Given the description of an element on the screen output the (x, y) to click on. 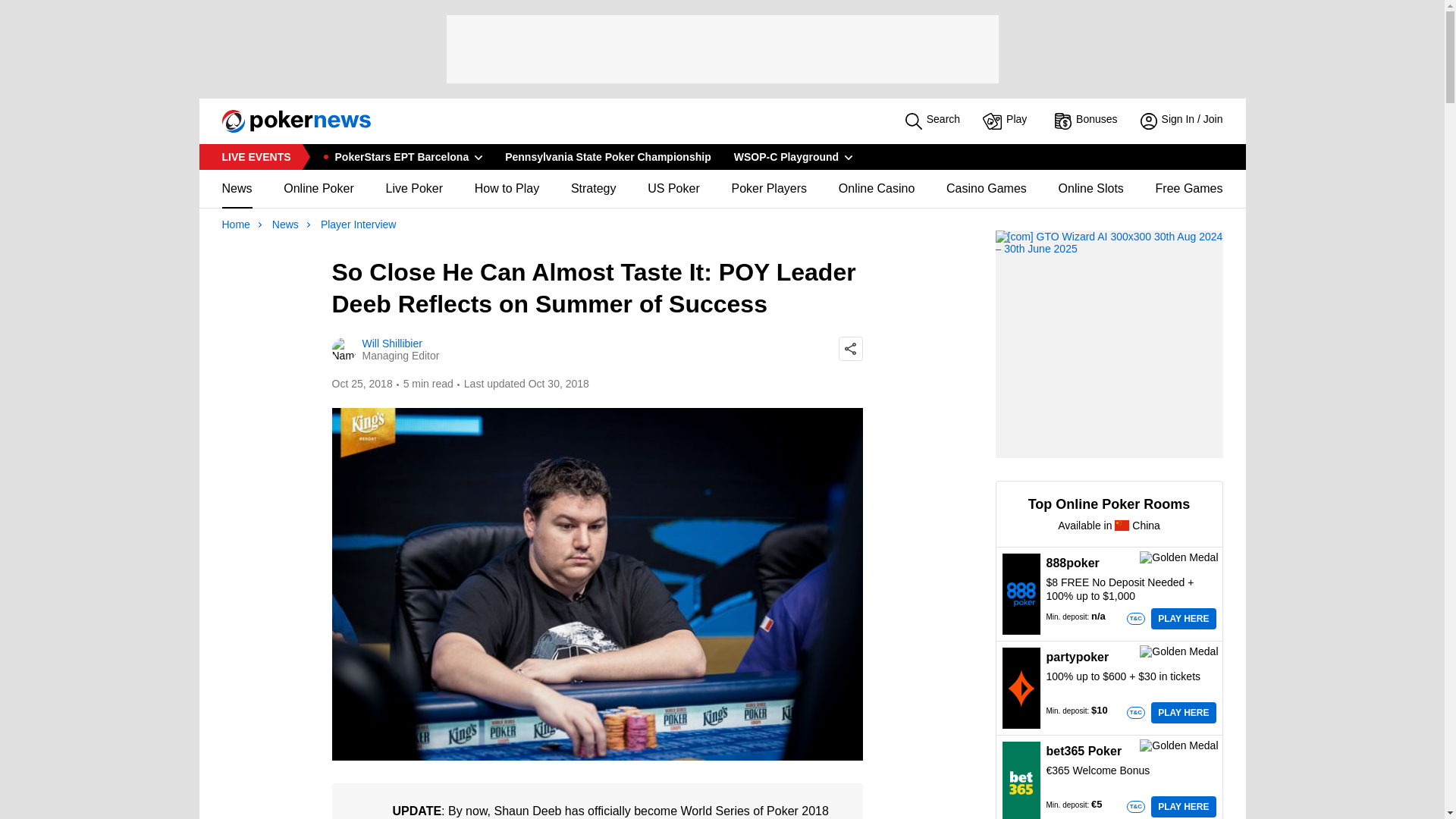
Play (1007, 121)
LIVE EVENTS (255, 156)
 Pennsylvania State Poker Championship (607, 156)
Pennsylvania State Poker Championship (607, 156)
partypoker (1022, 687)
bet365 Poker (1022, 781)
888poker (1022, 593)
Poker News (289, 121)
